Given the description of an element on the screen output the (x, y) to click on. 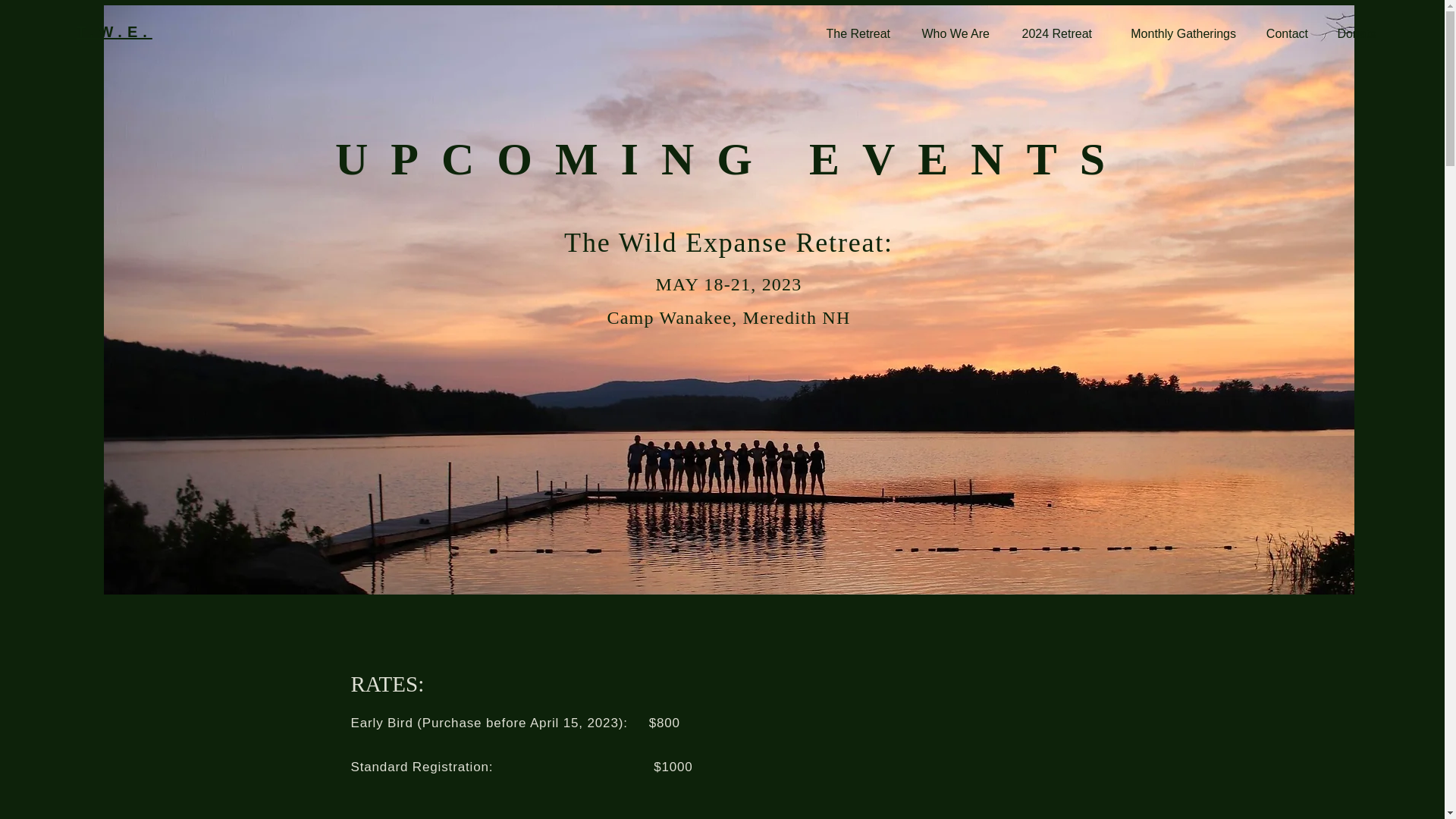
2024 Retreat (1052, 34)
Donate (1353, 34)
Who We Are (951, 34)
The Retreat (853, 34)
Contact (1283, 34)
T.W.E. (114, 31)
Monthly Gatherings (1175, 34)
